Given the description of an element on the screen output the (x, y) to click on. 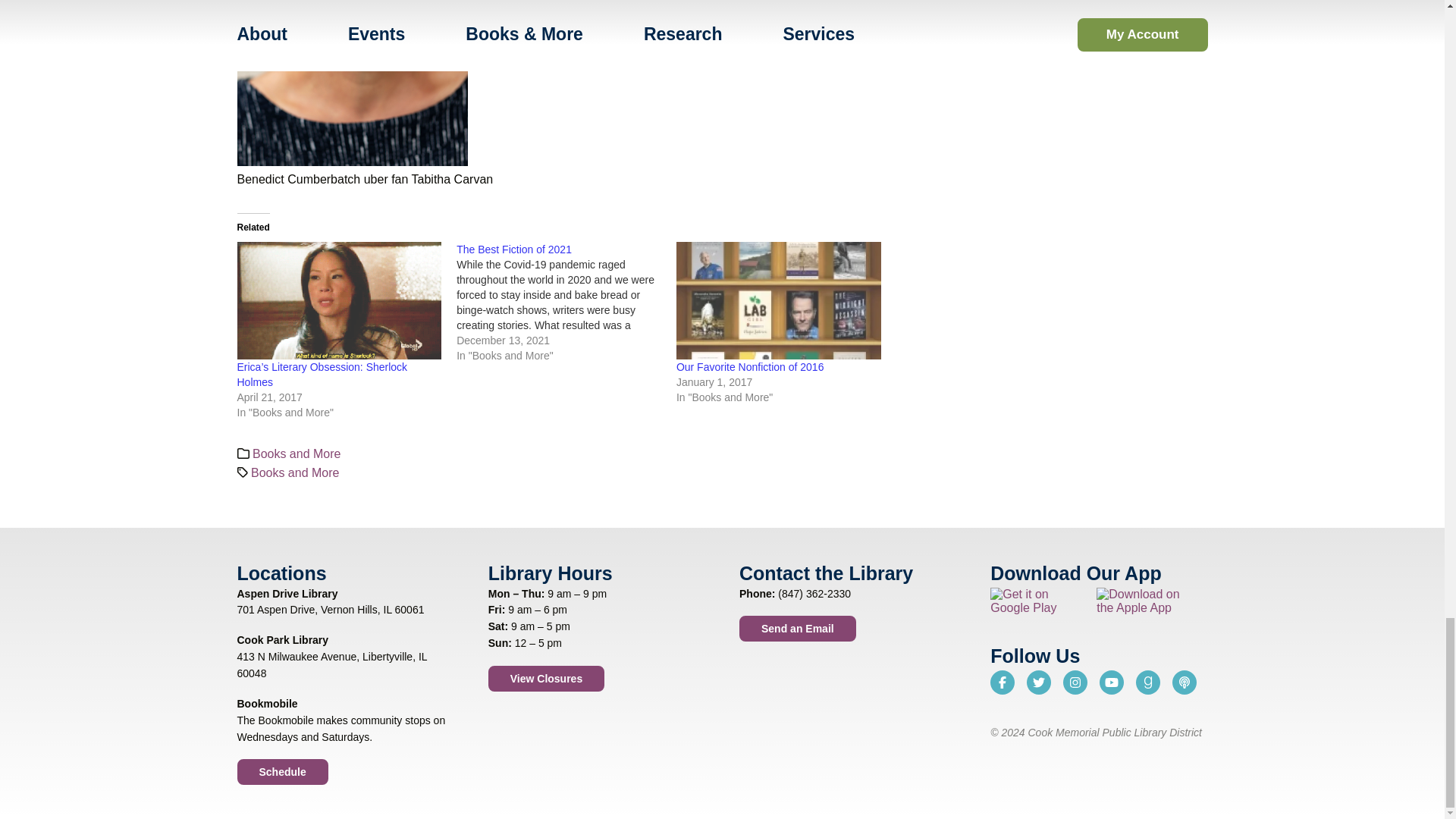
Our Favorite Nonfiction of 2016 (778, 299)
The Best Fiction of 2021 (567, 302)
The Best Fiction of 2021 (514, 249)
Our Favorite Nonfiction of 2016 (750, 367)
